Given the description of an element on the screen output the (x, y) to click on. 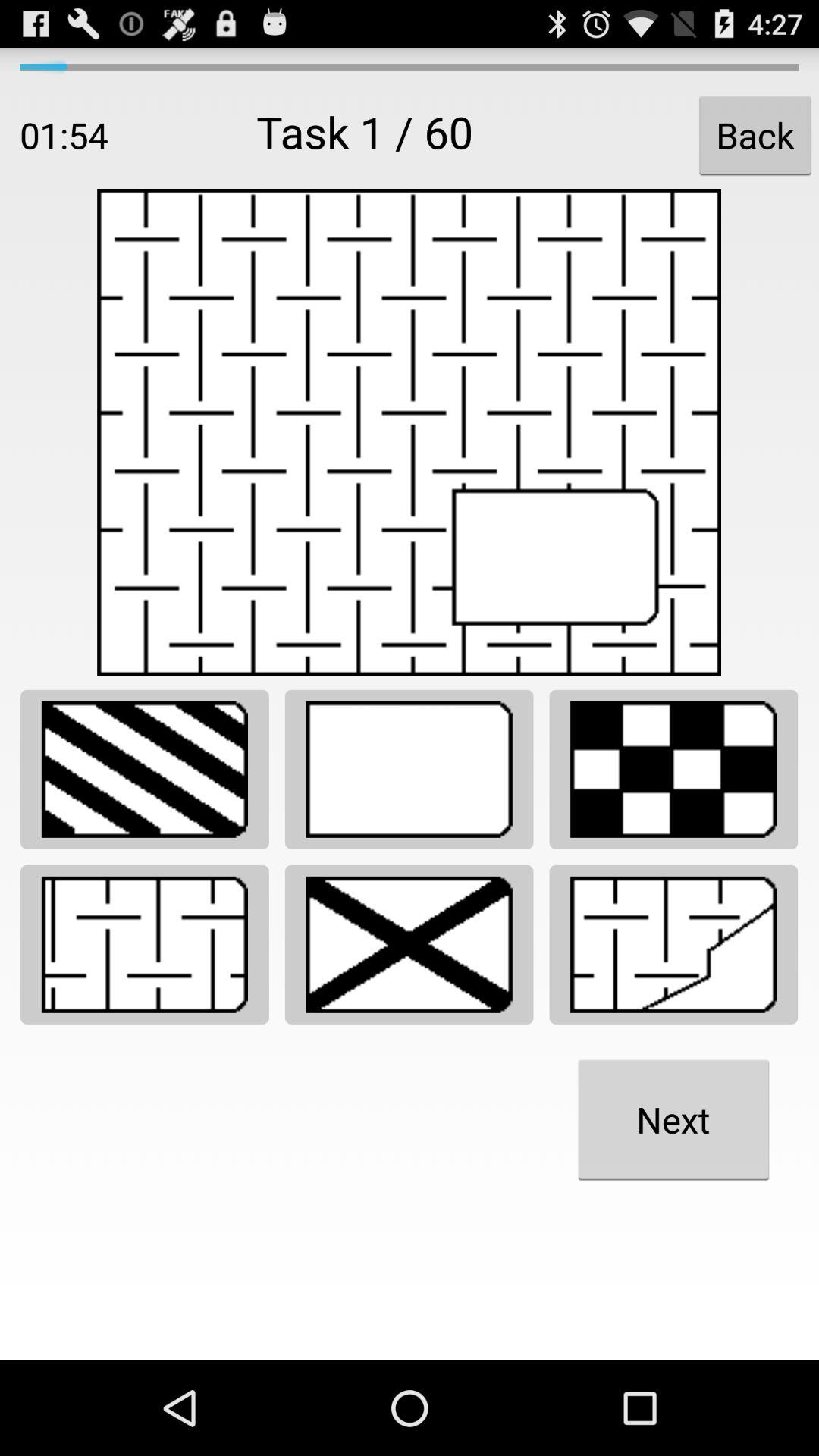
stripes shape (144, 769)
